Given the description of an element on the screen output the (x, y) to click on. 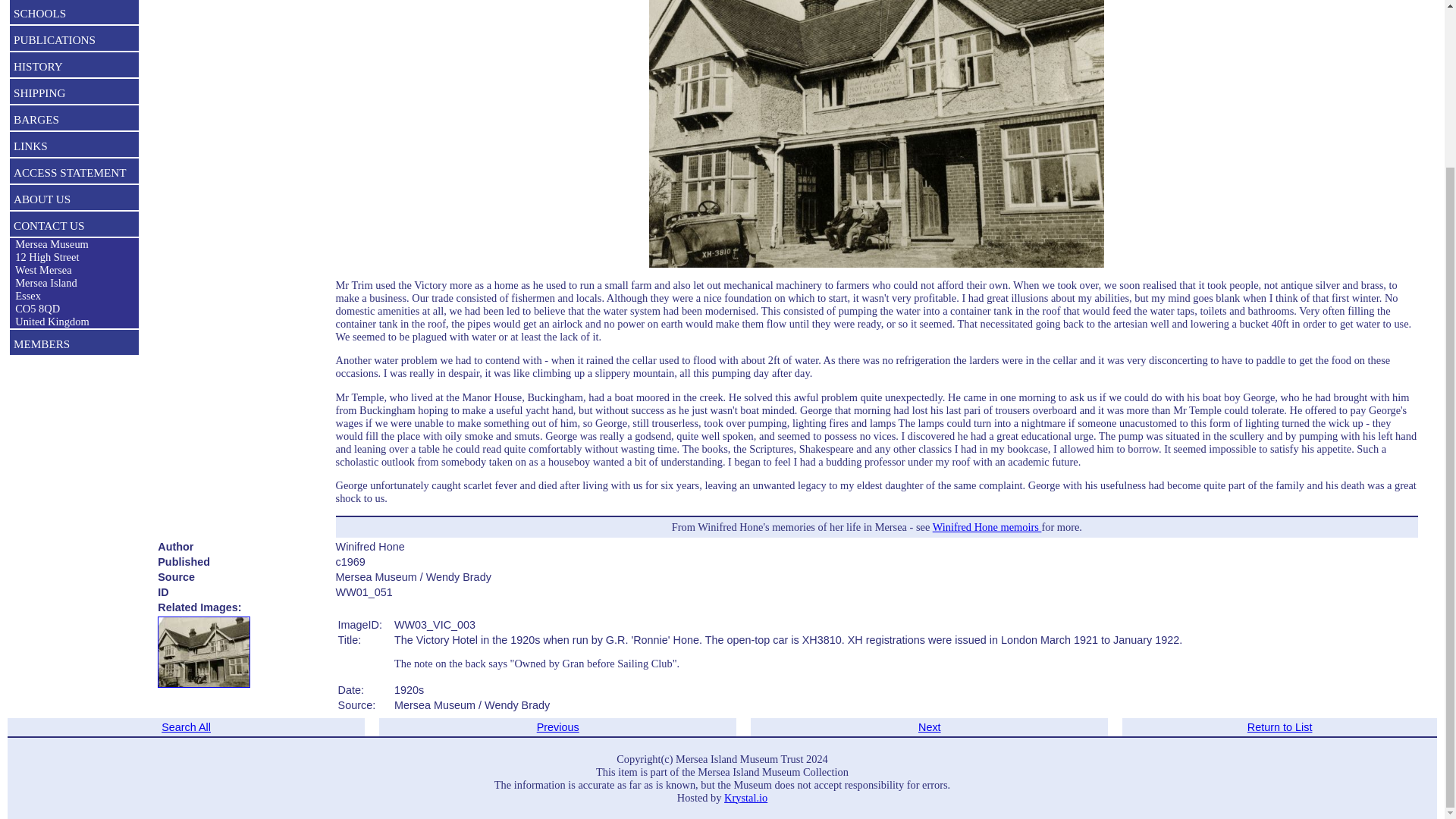
SHIPPING (74, 94)
PUBLICATIONS (74, 41)
HISTORY (74, 67)
SCHOOLS (74, 15)
